Given the description of an element on the screen output the (x, y) to click on. 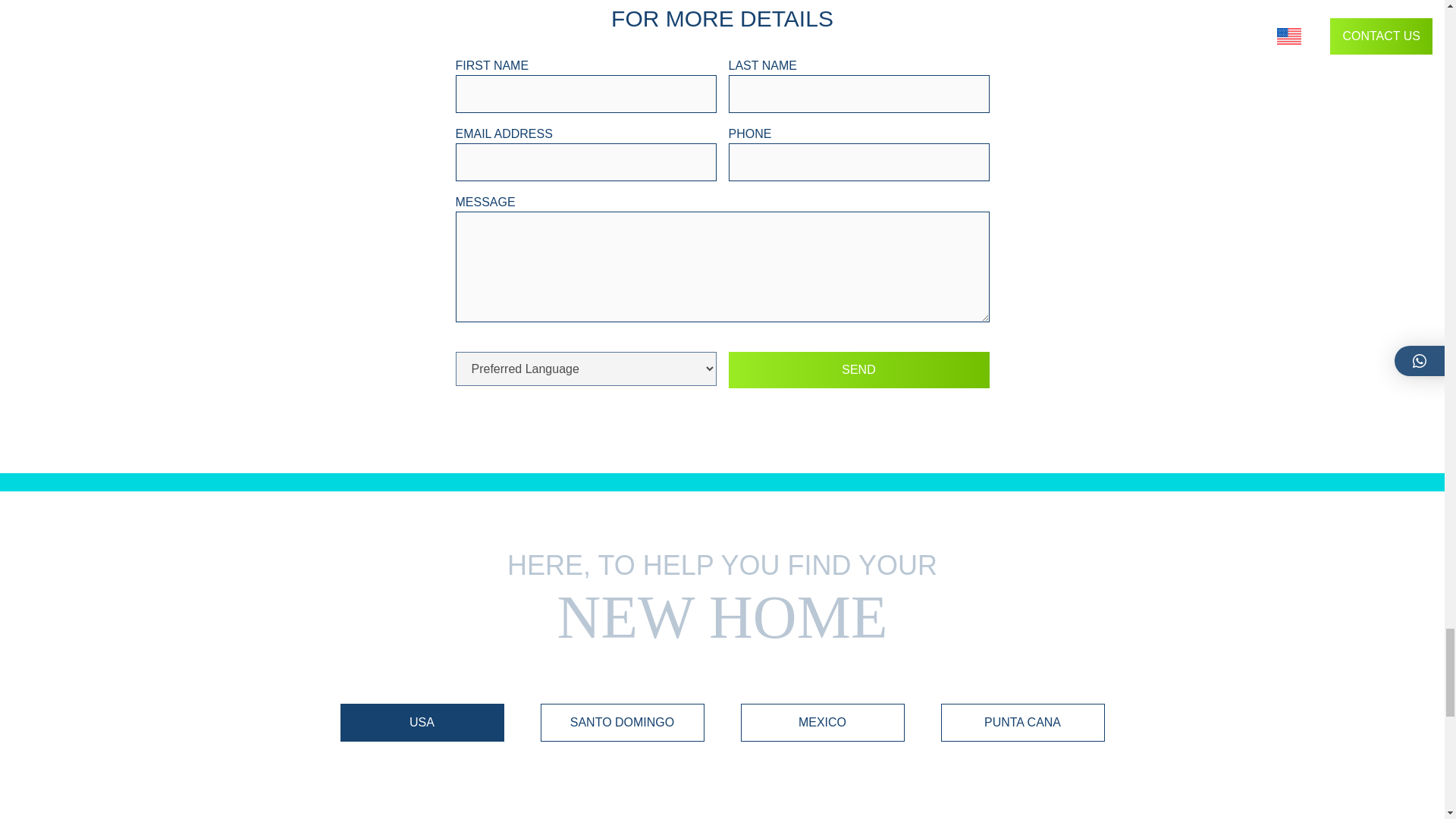
Send (858, 370)
